Given the description of an element on the screen output the (x, y) to click on. 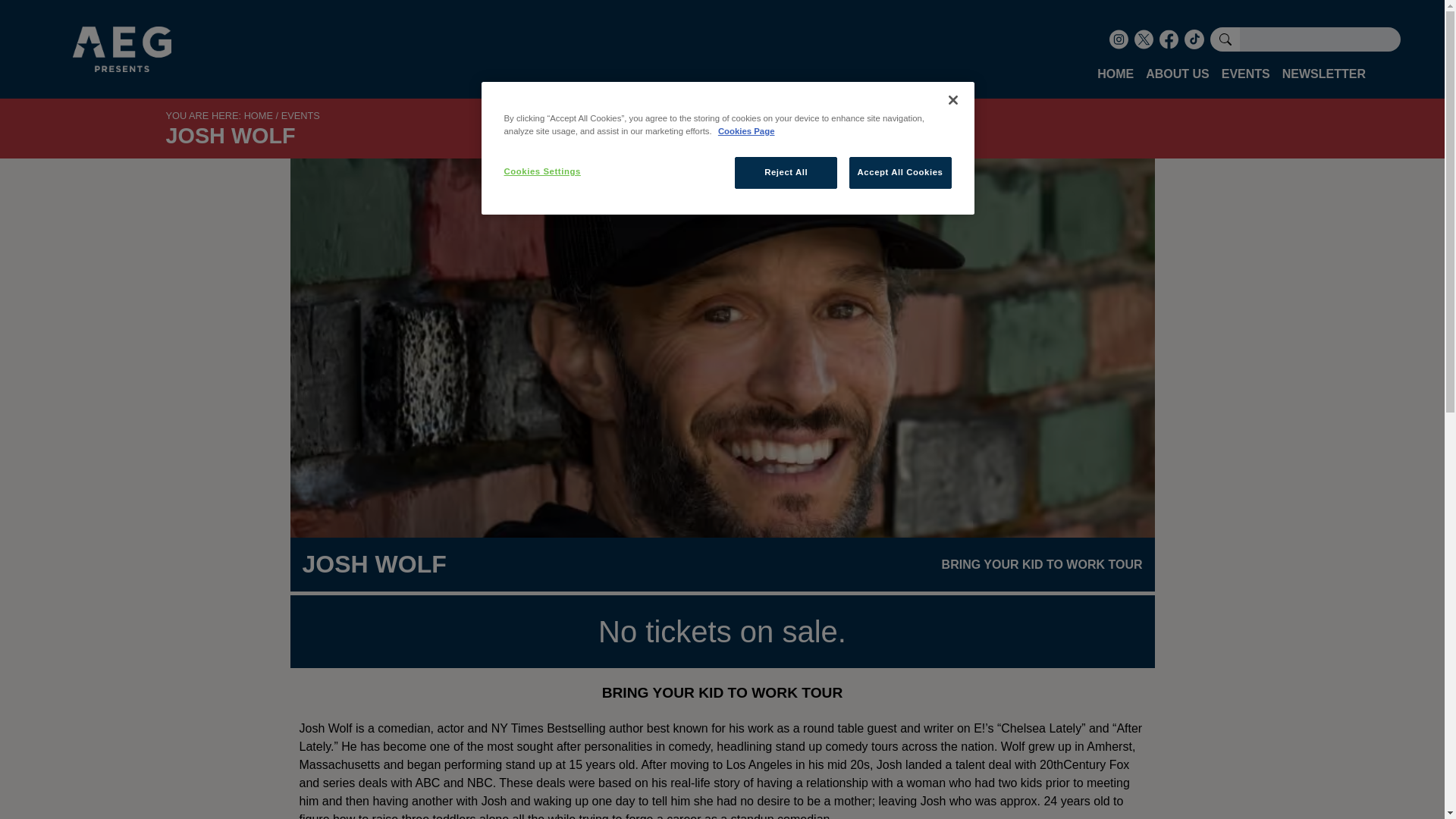
HOME (1115, 78)
ABOUT US (1177, 78)
EVENTS (1245, 78)
HOME (258, 115)
NEWSLETTER (1323, 78)
EVENTS (300, 115)
